Given the description of an element on the screen output the (x, y) to click on. 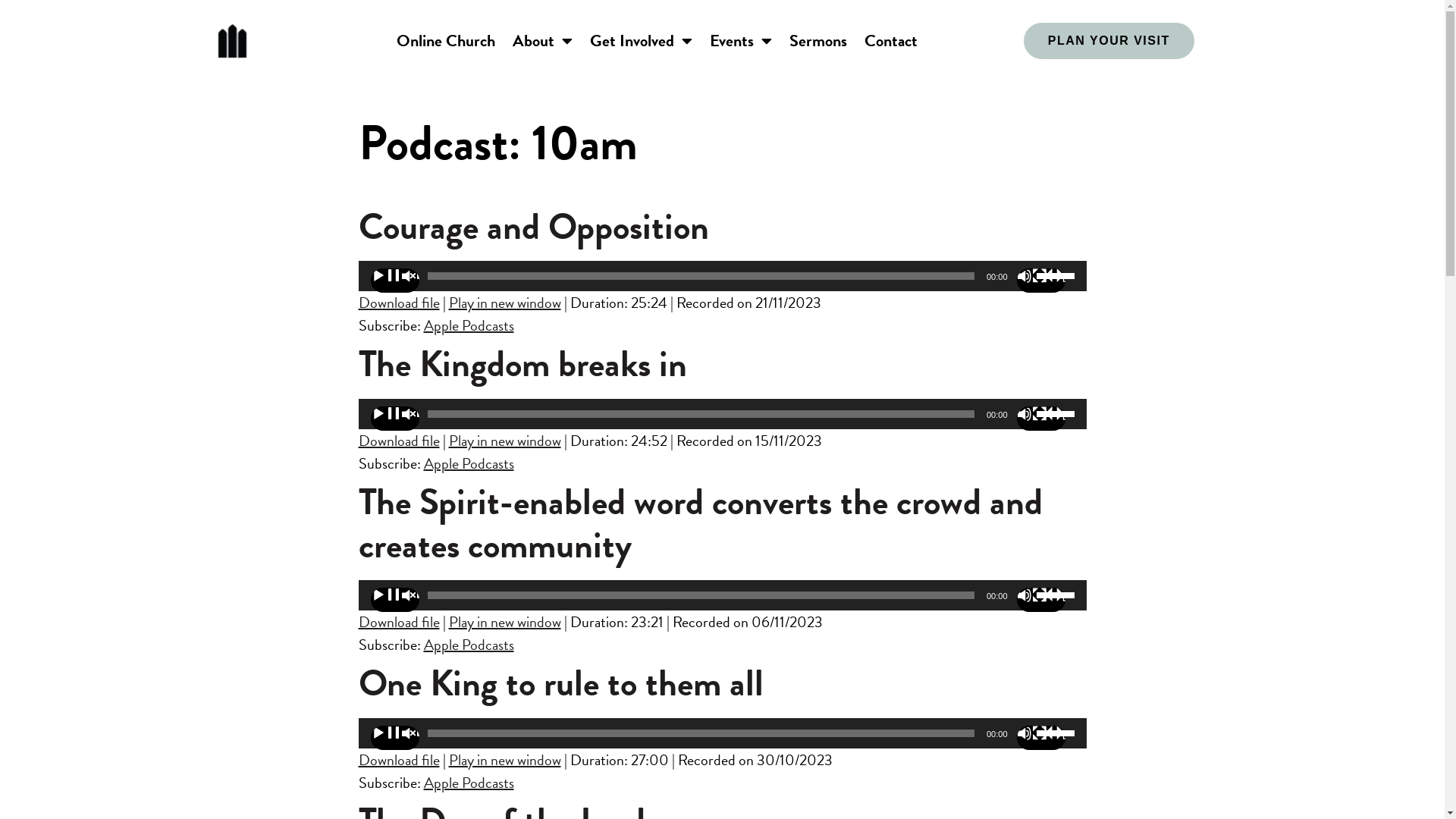
Use Up/Down Arrow keys to increase or decrease volume. Element type: text (1056, 731)
Mute Element type: hover (1040, 599)
About Element type: text (542, 40)
Mute Element type: hover (1040, 737)
Get Involved Element type: text (640, 40)
Download file Element type: text (398, 440)
Play Element type: hover (394, 599)
Play in new window Element type: text (504, 759)
Play Element type: hover (394, 280)
Courage and Opposition Element type: text (532, 226)
Events Element type: text (740, 40)
Apple Podcasts Element type: text (468, 324)
Download file Element type: text (398, 759)
PLAN YOUR VISIT Element type: text (1108, 40)
Download file Element type: text (398, 621)
Play in new window Element type: text (504, 621)
Mute Element type: hover (1040, 418)
Mute Element type: hover (1040, 280)
Play Element type: hover (394, 418)
Sermons Element type: text (818, 40)
Use Up/Down Arrow keys to increase or decrease volume. Element type: text (1056, 593)
Online Church Element type: text (445, 40)
The Kingdom breaks in Element type: text (521, 363)
Play in new window Element type: text (504, 302)
Play in new window Element type: text (504, 440)
Use Up/Down Arrow keys to increase or decrease volume. Element type: text (1056, 412)
Apple Podcasts Element type: text (468, 462)
Contact Element type: text (890, 40)
Apple Podcasts Element type: text (468, 782)
Apple Podcasts Element type: text (468, 644)
Use Up/Down Arrow keys to increase or decrease volume. Element type: text (1056, 274)
Download file Element type: text (398, 302)
One King to rule to them all Element type: text (559, 682)
Play Element type: hover (394, 737)
